Given the description of an element on the screen output the (x, y) to click on. 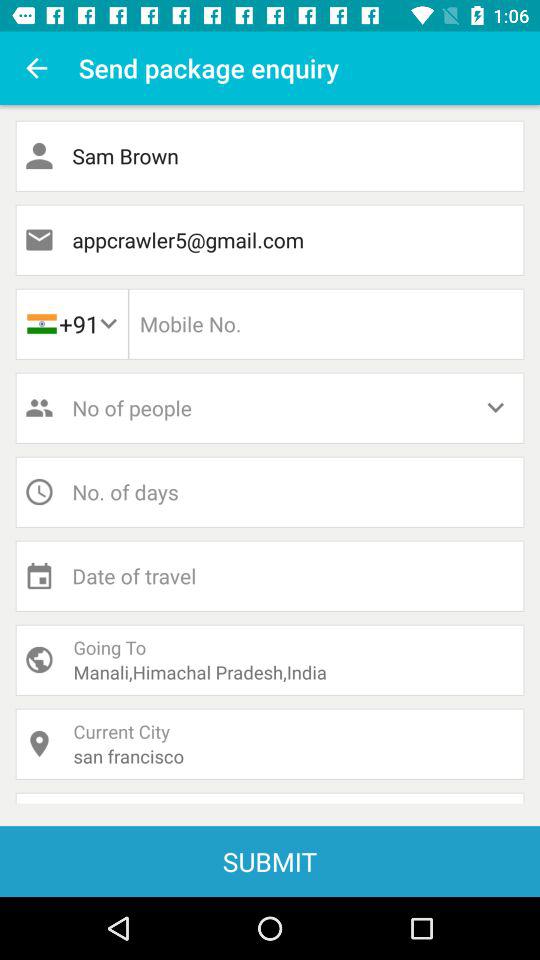
press icon below no of people (269, 491)
